Given the description of an element on the screen output the (x, y) to click on. 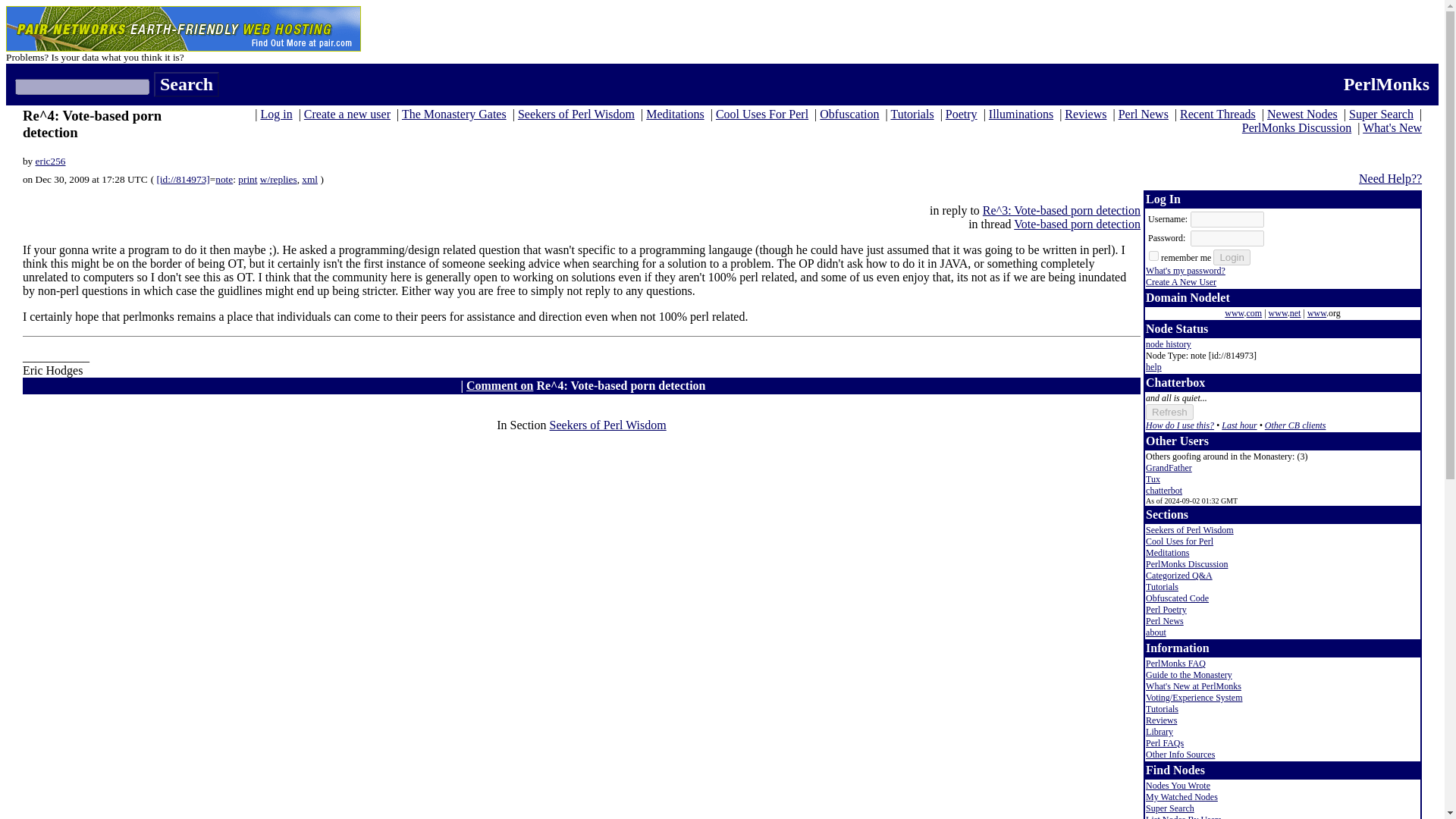
Search (186, 84)
www (1277, 312)
net (1295, 312)
www (1233, 312)
Comment on (498, 385)
Seekers of Perl Wisdom (608, 424)
Search (186, 84)
What's my password? (1185, 270)
Poetry (960, 113)
Reviews (1085, 113)
